Given the description of an element on the screen output the (x, y) to click on. 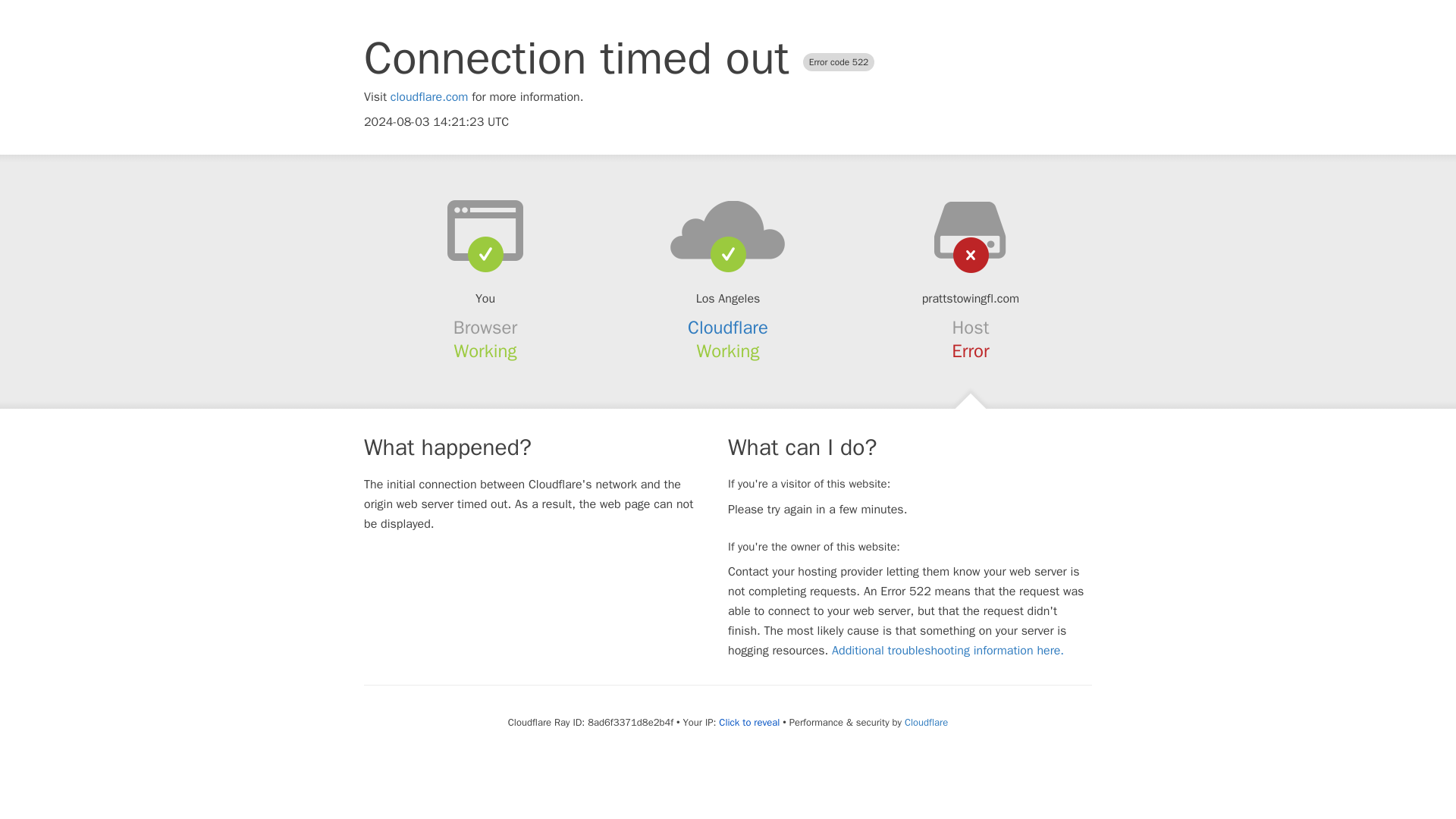
Cloudflare (925, 721)
cloudflare.com (429, 96)
Click to reveal (748, 722)
Additional troubleshooting information here. (947, 650)
Cloudflare (727, 327)
